Given the description of an element on the screen output the (x, y) to click on. 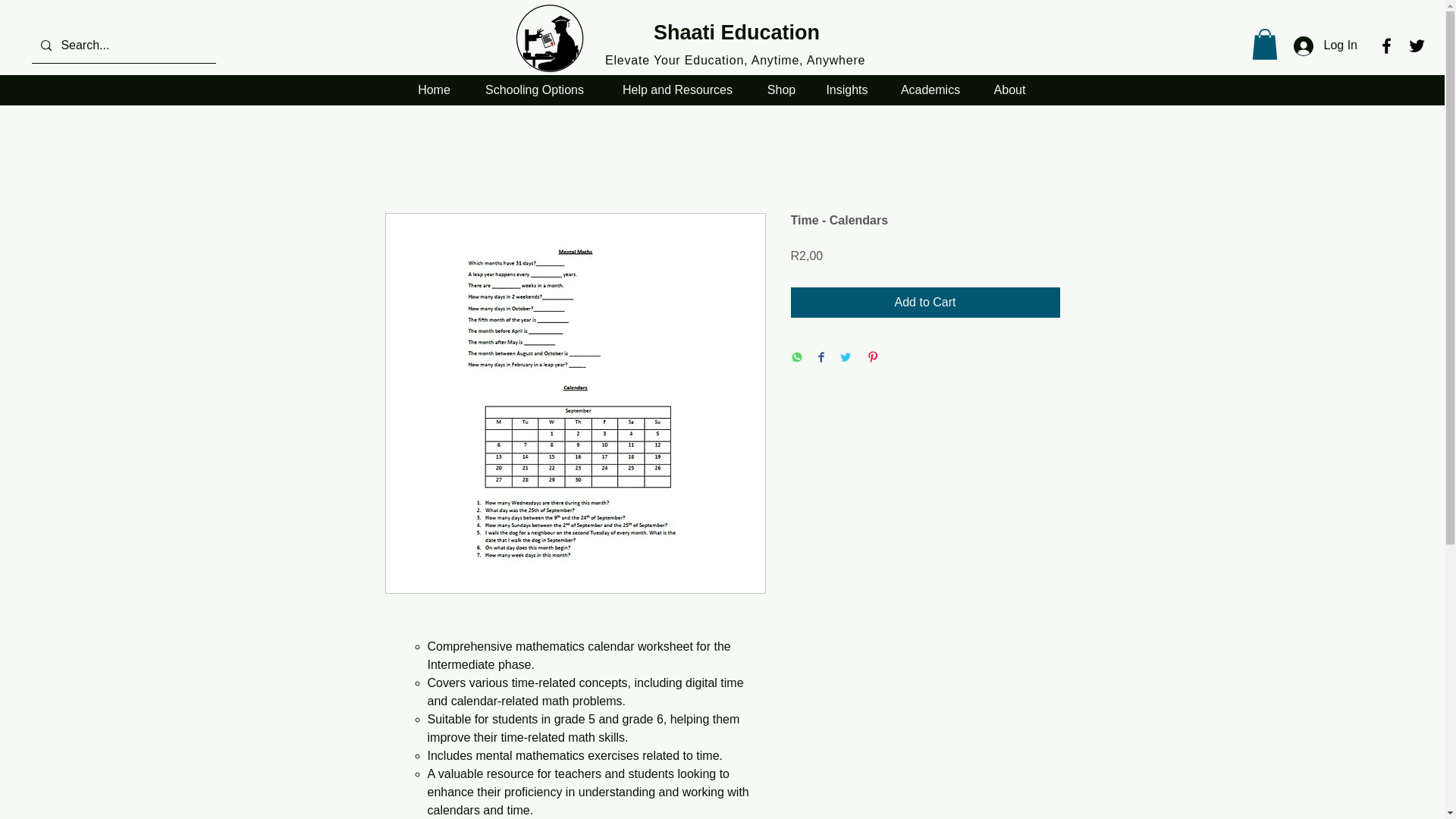
Schooling Options (533, 89)
Shaati Education (736, 32)
Elevate Your Education, Anytime, Anywhere (548, 38)
Home (433, 89)
Log In (1325, 45)
About (1010, 89)
Add to Cart (924, 302)
Help and Resources (678, 89)
Insights (846, 89)
Shop (781, 89)
